Given the description of an element on the screen output the (x, y) to click on. 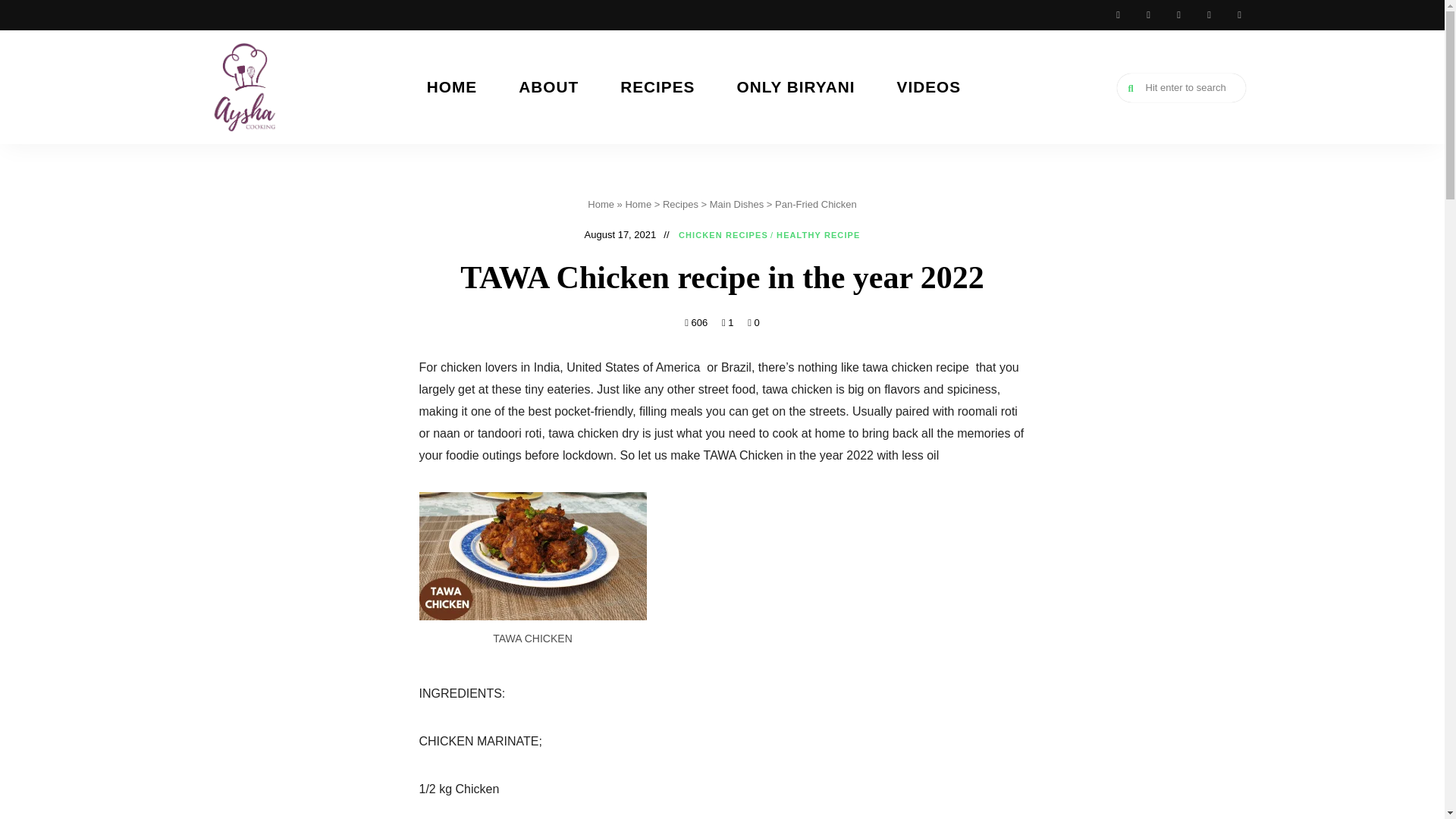
instagram (1178, 15)
Aysha Cooking (236, 168)
HOME (460, 87)
VIDEOS (938, 87)
HEALTHY RECIPE (818, 235)
RECIPES (666, 87)
CHICKEN RECIPES (723, 235)
youtube (1147, 15)
twitter (1208, 15)
pinterest (1238, 15)
